Given the description of an element on the screen output the (x, y) to click on. 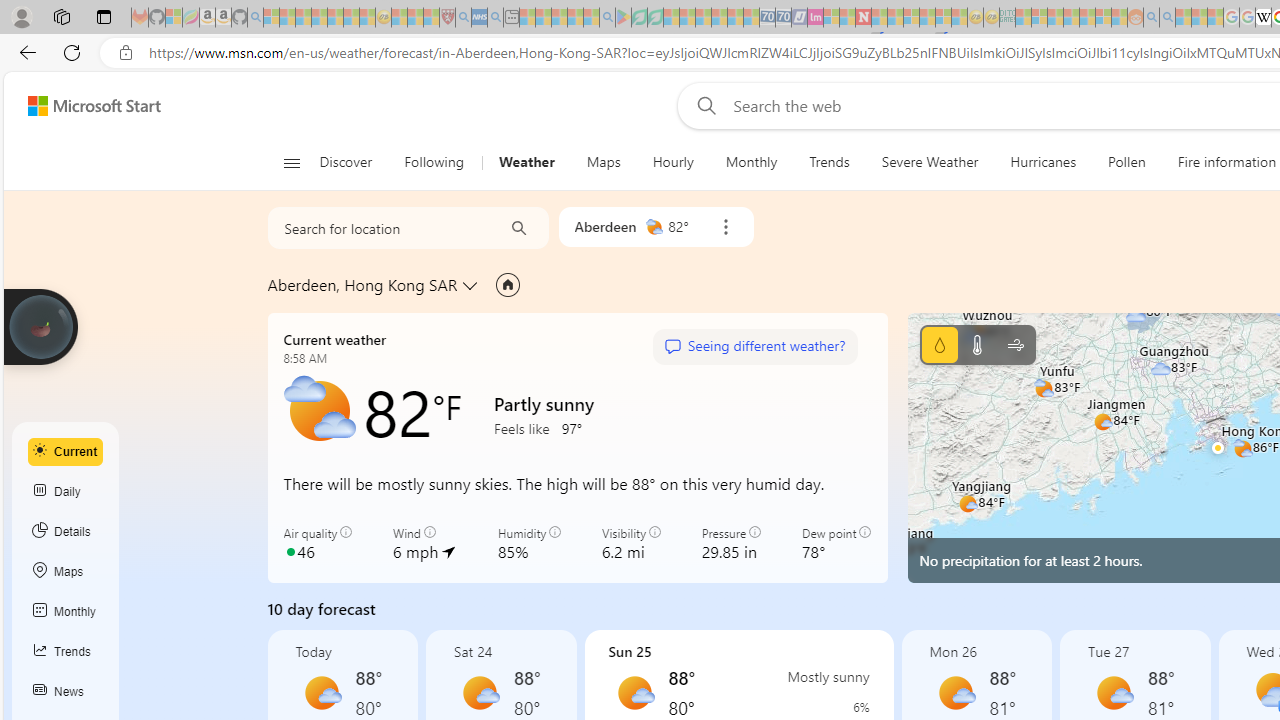
Remove location (725, 227)
Humidity 85% (528, 543)
Precipitation (843, 707)
